Given the description of an element on the screen output the (x, y) to click on. 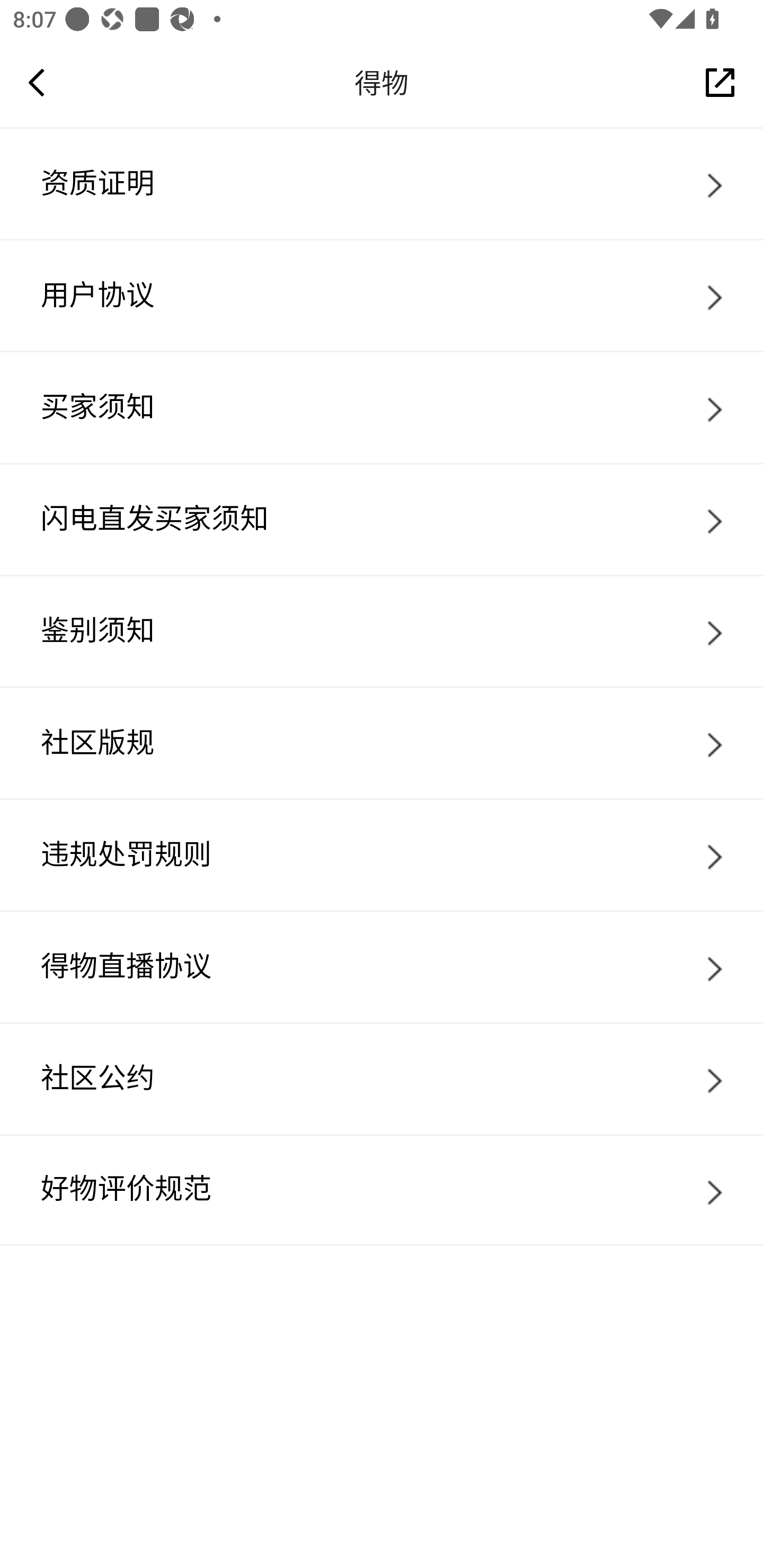
Navigate up (36, 82)
资质证明 arrow (381, 183)
用户协议 arrow (381, 294)
买家须知 arrow (381, 406)
闪电直发买家须知 arrow (381, 518)
鉴别须知 arrow (381, 629)
社区版规 arrow (381, 742)
违规处罚规则 arrow (381, 854)
得物直播协议 arrow (381, 966)
社区公约 arrow (381, 1078)
好物评价规范 arrow (381, 1189)
